Given the description of an element on the screen output the (x, y) to click on. 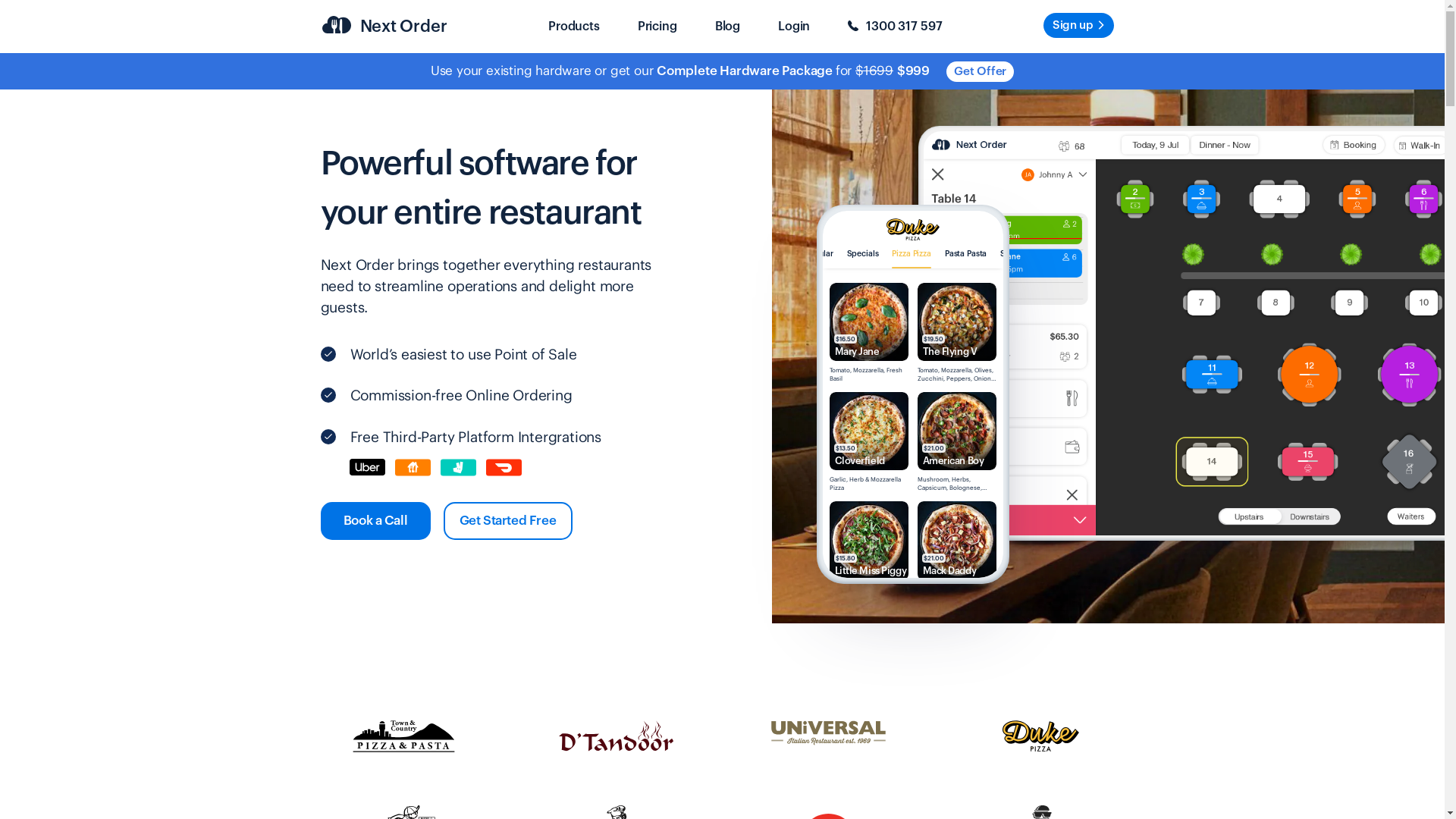
Login Element type: text (793, 26)
Get Started Free Element type: text (506, 520)
1300 317 597 Element type: text (894, 26)
Sign up Element type: text (1078, 24)
Next Order Element type: text (383, 26)
Book a Call Element type: text (374, 520)
Pricing Element type: text (657, 26)
Next Order Element type: text (985, 146)
Blog Element type: text (727, 26)
